Given the description of an element on the screen output the (x, y) to click on. 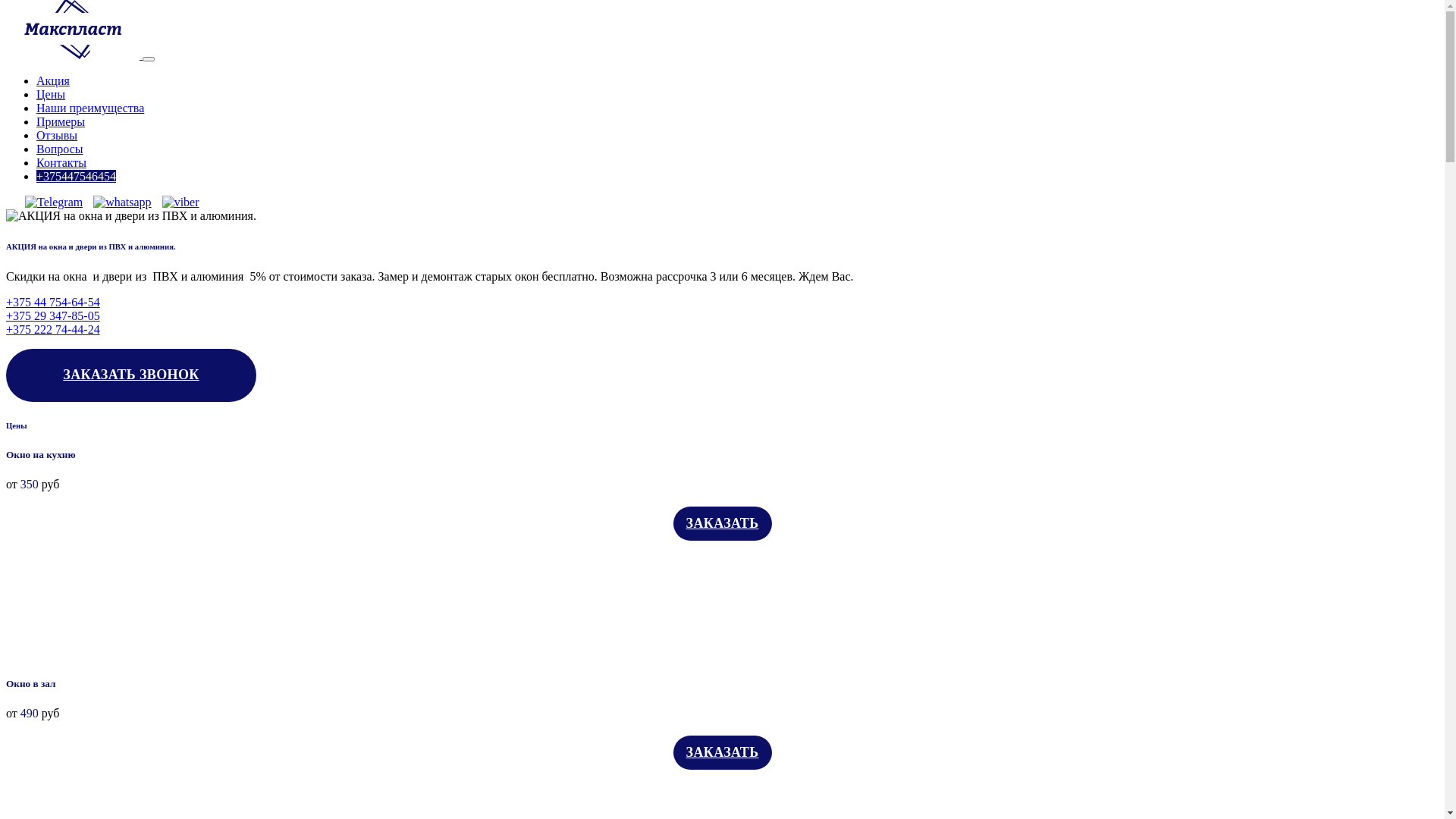
+375 222 74-44-24 Element type: text (53, 329)
+375 44 754-64-54 Element type: text (53, 301)
+375447546454 Element type: text (76, 175)
+375 29 347-85-05 Element type: text (53, 315)
